Given the description of an element on the screen output the (x, y) to click on. 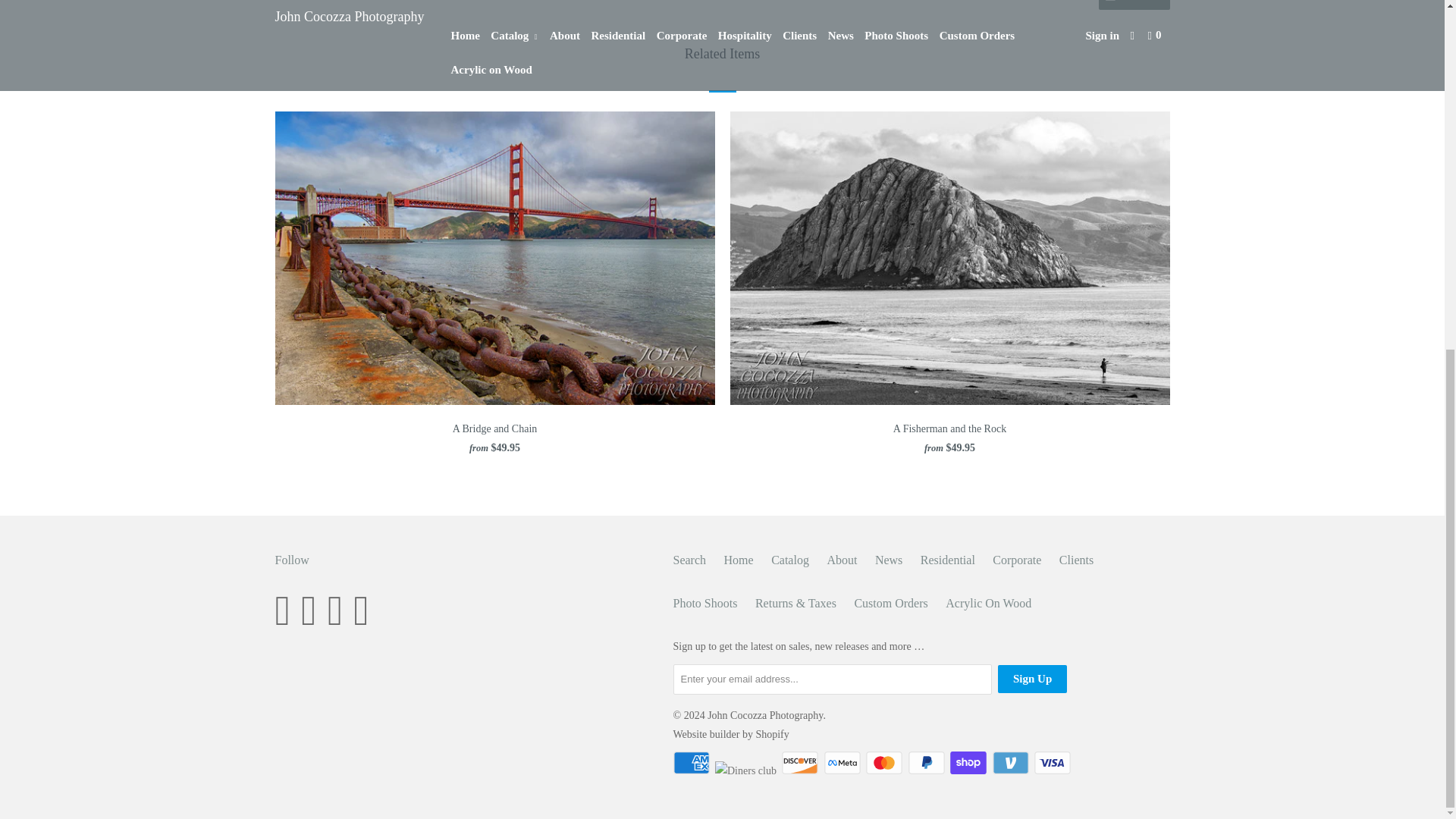
Sign Up (1032, 678)
